Given the description of an element on the screen output the (x, y) to click on. 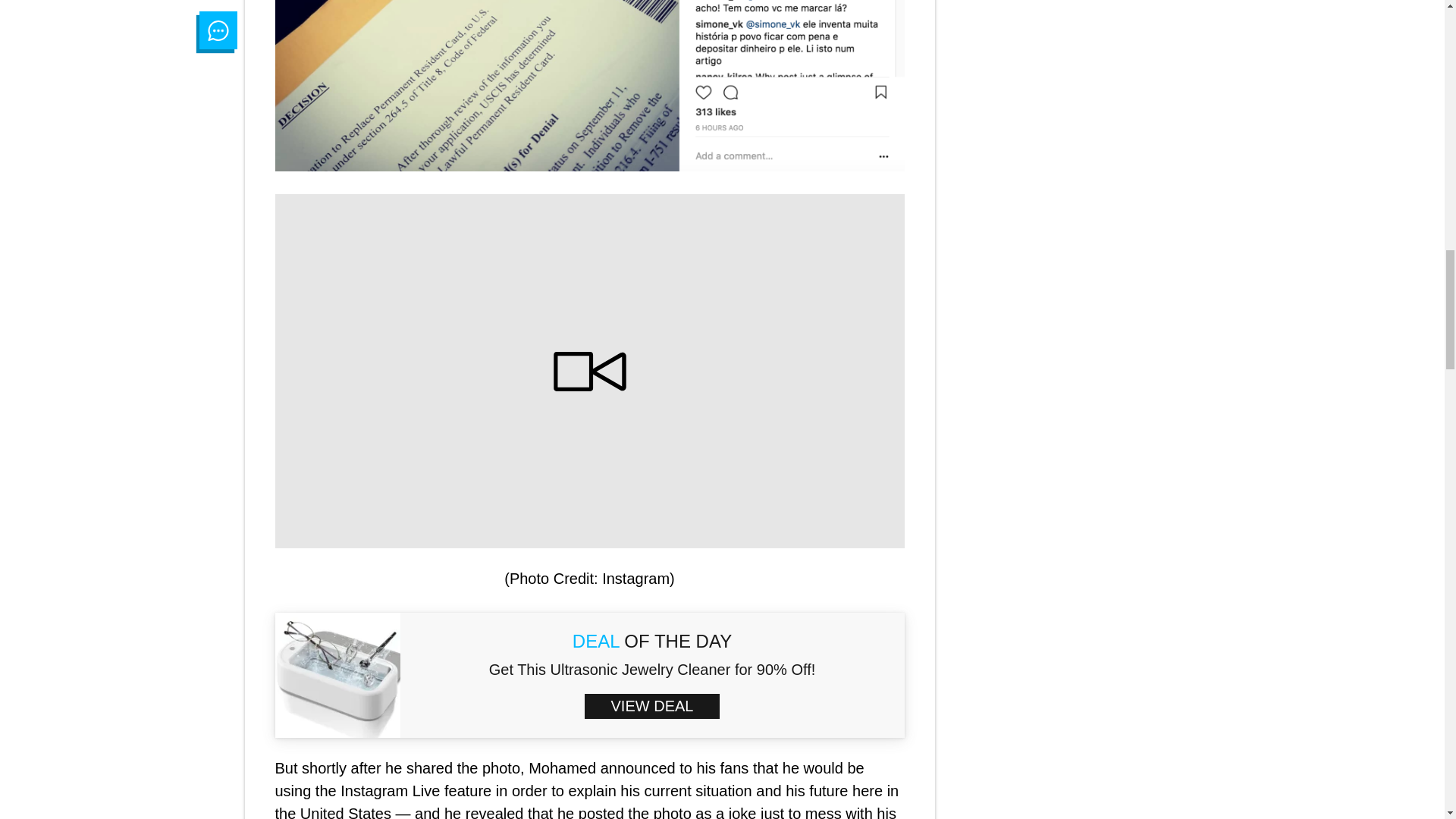
mohamed jbali green card instagram (589, 85)
